Given the description of an element on the screen output the (x, y) to click on. 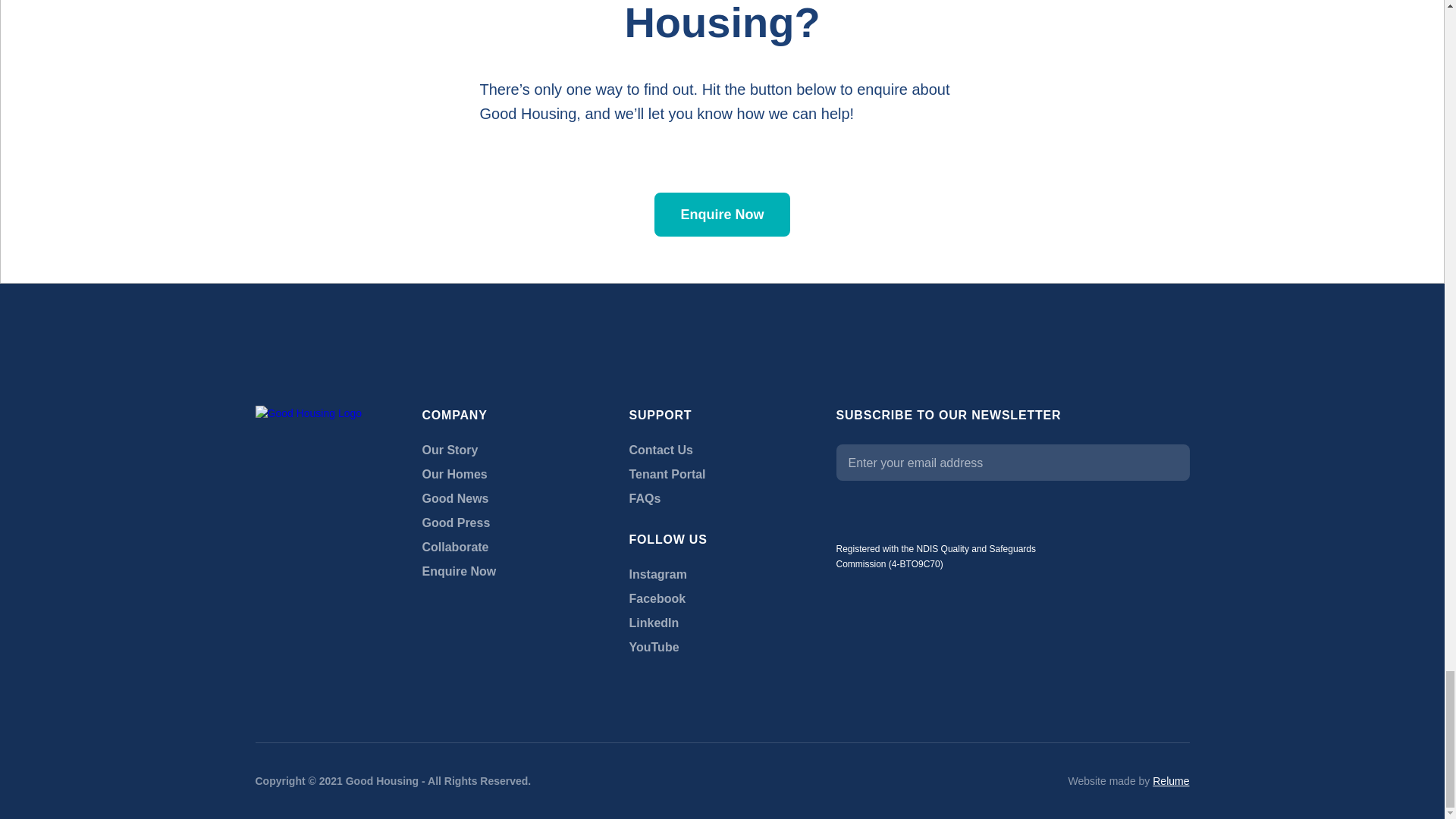
YouTube (653, 647)
Contact Us (660, 450)
LinkedIn (653, 623)
FAQs (644, 499)
Tenant Portal (667, 474)
Our Story (449, 450)
Instagram (657, 574)
Collaborate (454, 547)
Our Homes (454, 474)
Enquire Now (459, 571)
